Given the description of an element on the screen output the (x, y) to click on. 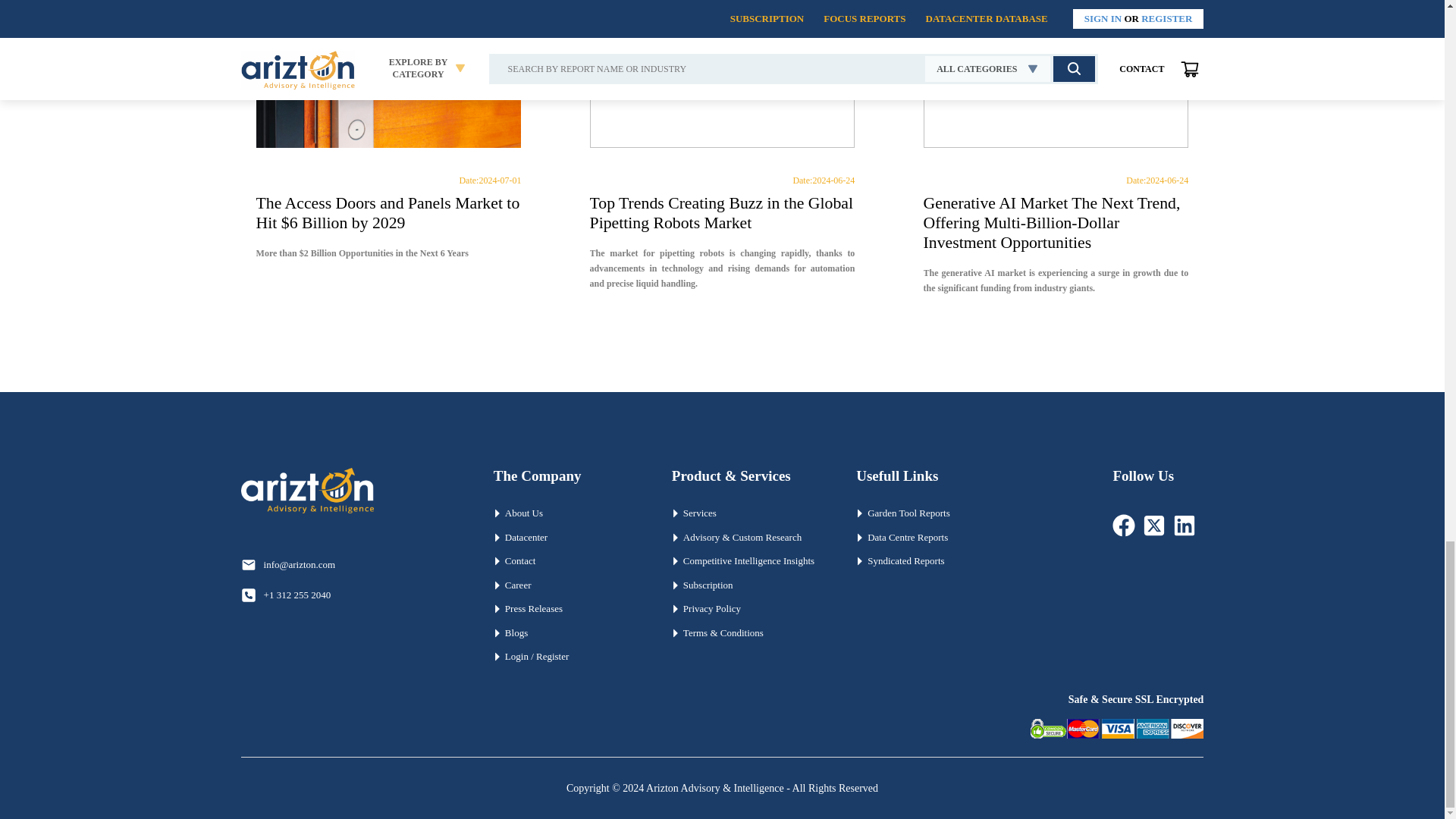
Blogs (567, 632)
Career (567, 585)
Services (747, 513)
About Us (567, 513)
Press Releases (567, 608)
Contact (567, 560)
Datacenter (567, 537)
